Given the description of an element on the screen output the (x, y) to click on. 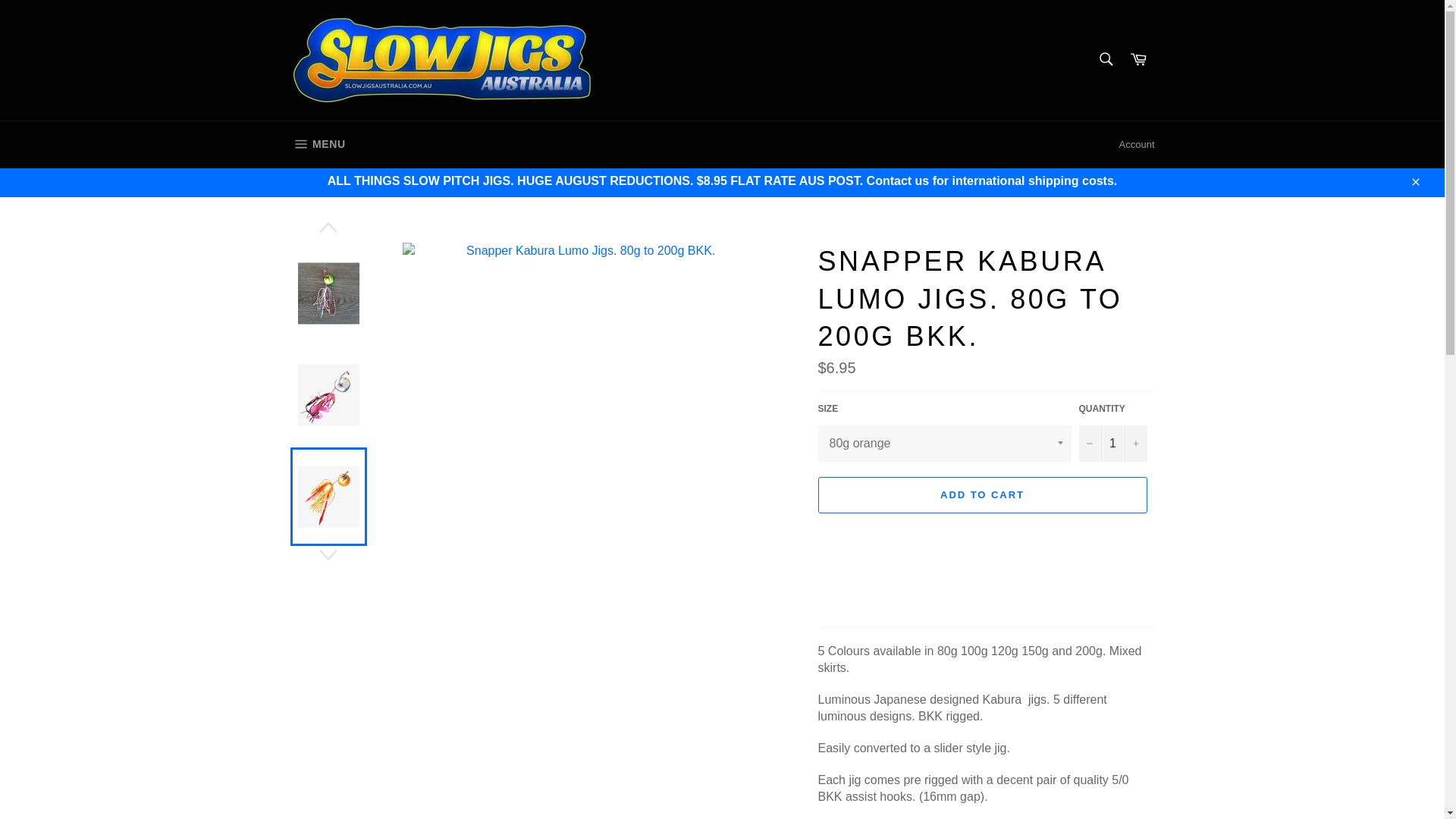
1 (1112, 443)
Cart (317, 144)
Search (1138, 59)
